Given the description of an element on the screen output the (x, y) to click on. 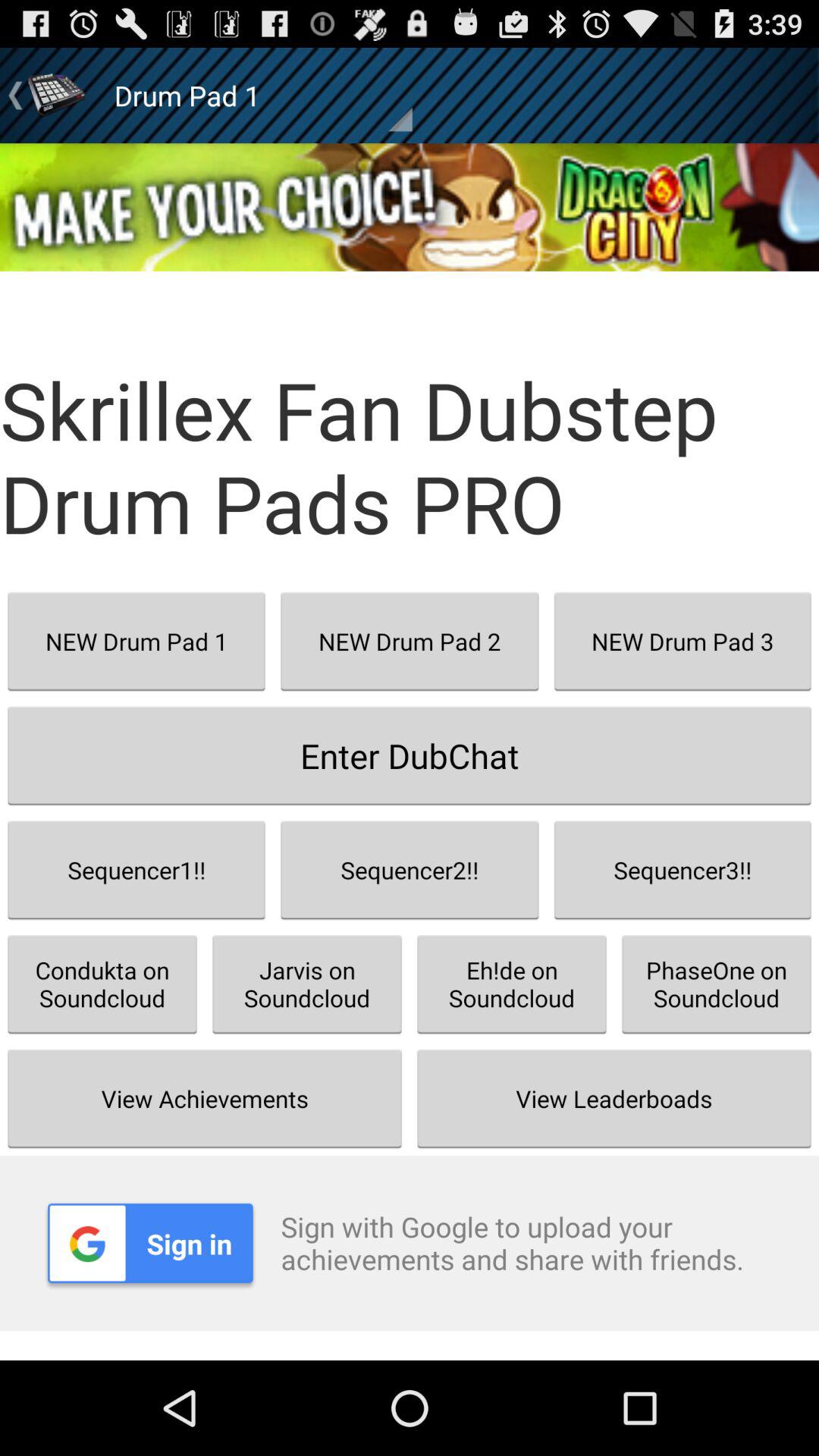
turn off view achievements item (204, 1098)
